Given the description of an element on the screen output the (x, y) to click on. 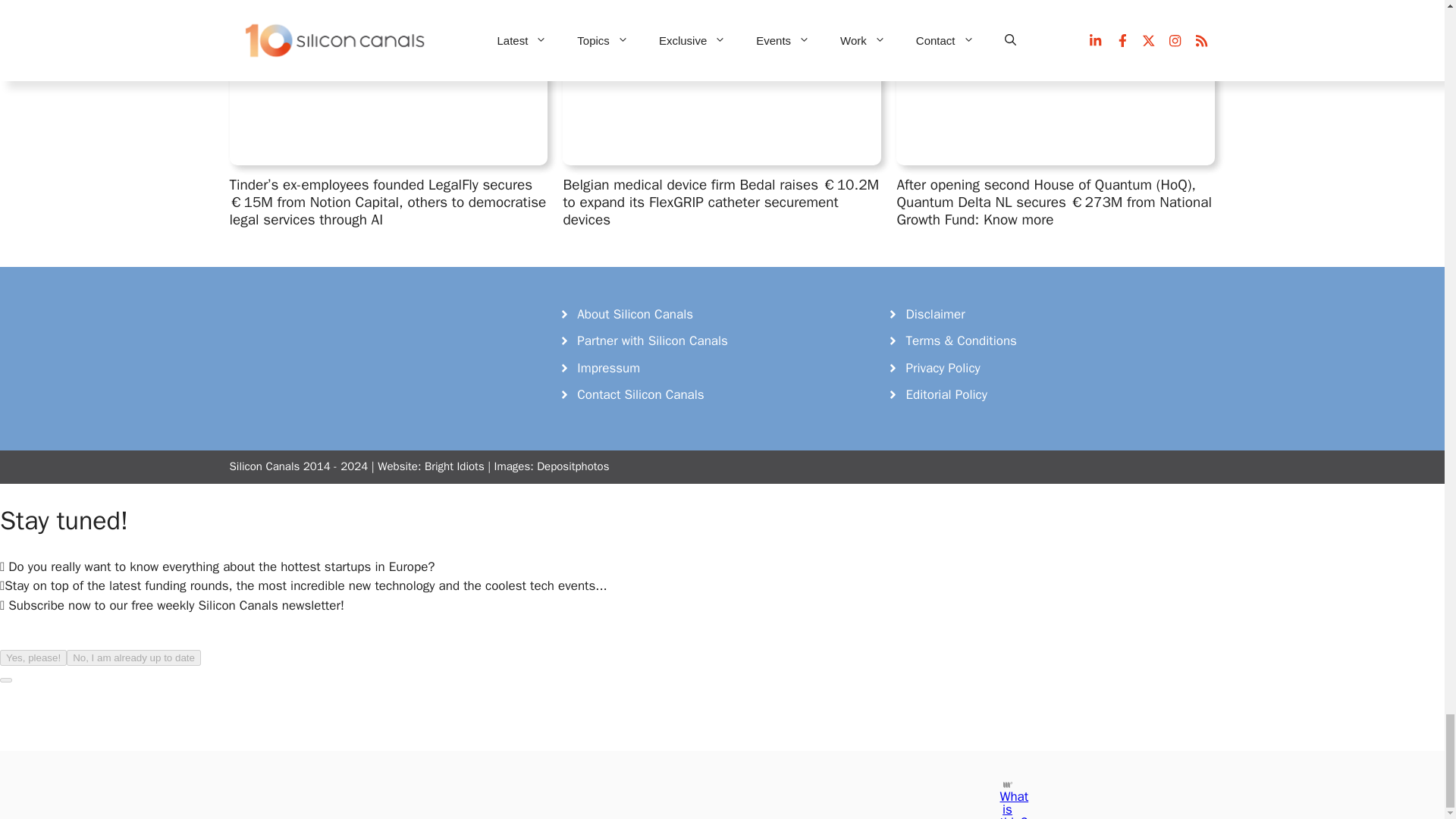
Silicon Canals logo white SC (342, 334)
